Given the description of an element on the screen output the (x, y) to click on. 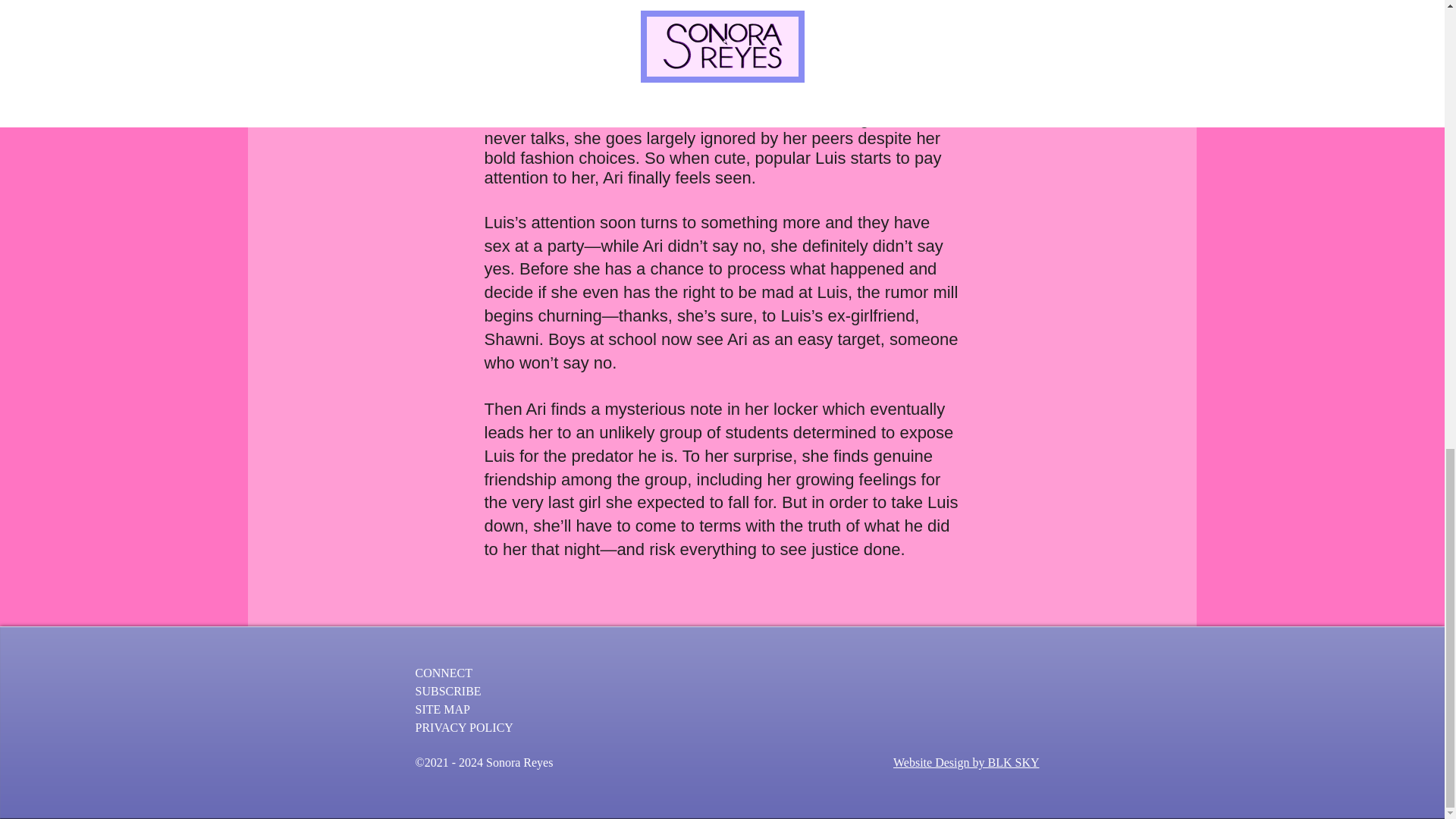
Indiebound (559, 5)
Target (721, 5)
Website Design by BLK SKY (966, 762)
CONNECT (443, 672)
Walmart (883, 5)
SITE MAP (442, 708)
SUBSCRIBE (447, 690)
PRIVACY POLICY (463, 727)
